Given the description of an element on the screen output the (x, y) to click on. 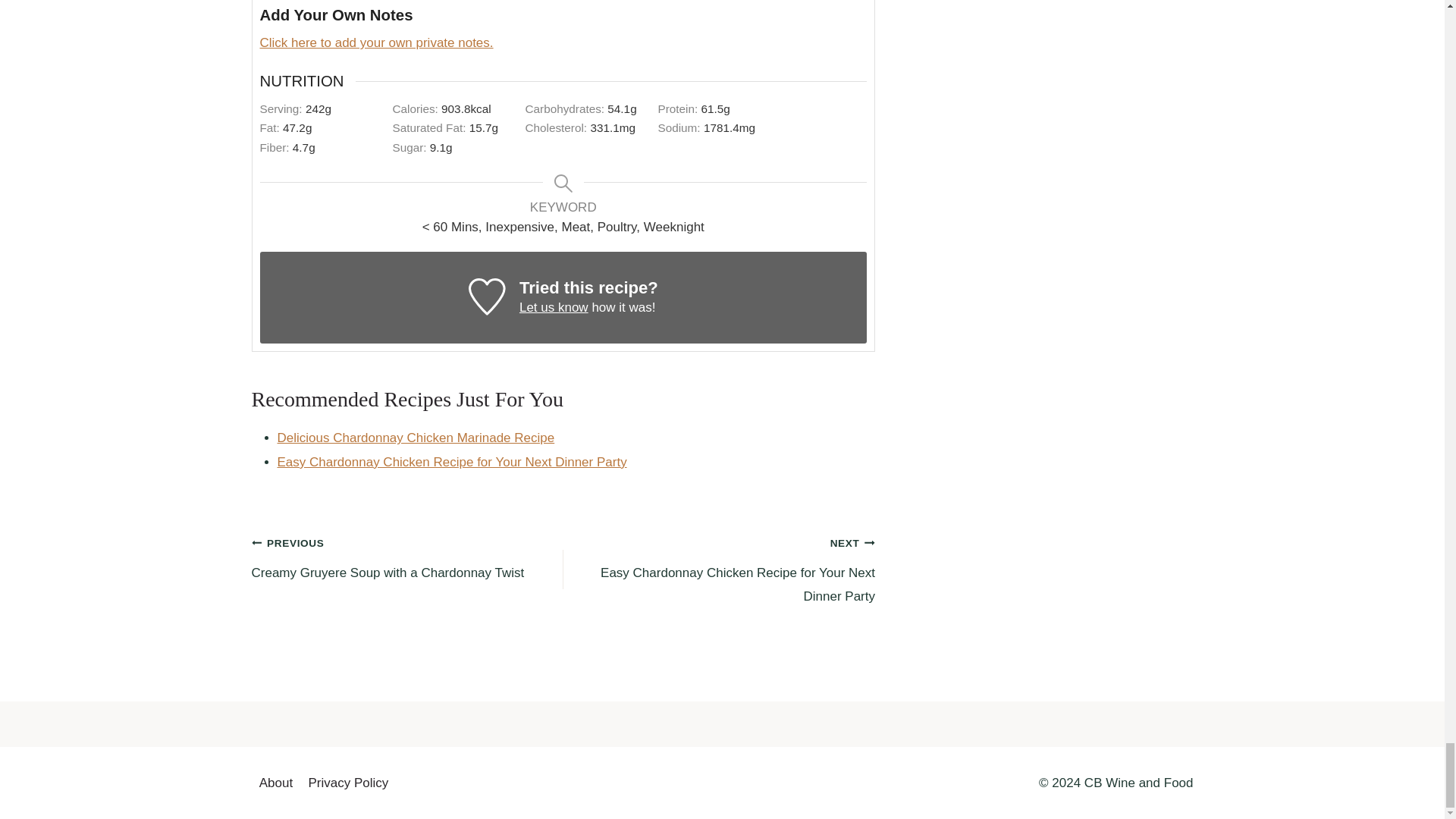
Delicious Chardonnay Chicken Marinade Recipe (416, 437)
Let us know (553, 307)
Click here to add your own private notes. (376, 42)
